Given the description of an element on the screen output the (x, y) to click on. 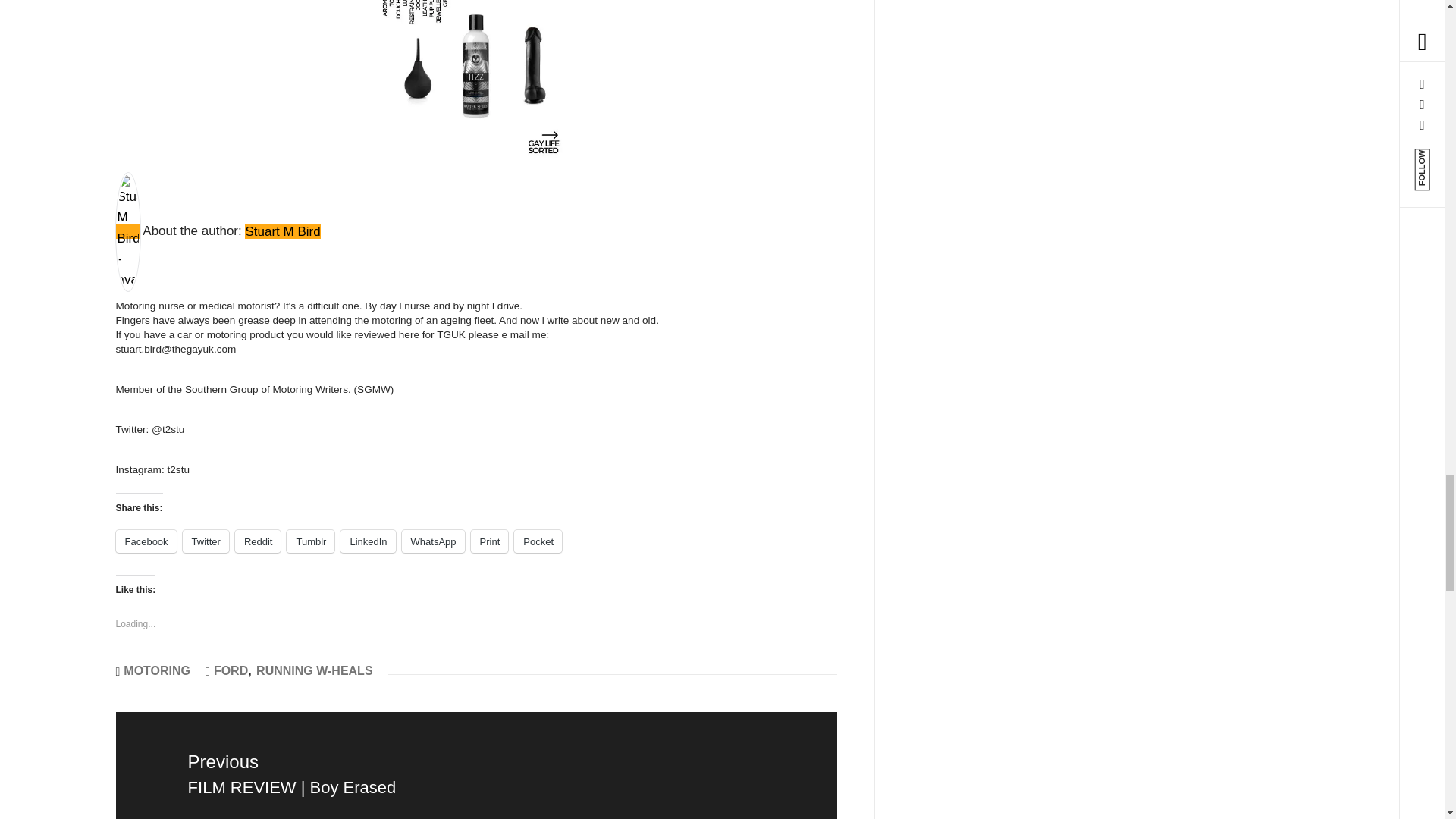
Click to print (489, 540)
Click to share on WhatsApp (432, 540)
Click to share on Twitter (205, 540)
Click to share on Reddit (257, 540)
Click to share on LinkedIn (367, 540)
Click to share on Pocket (537, 540)
Click to share on Facebook (145, 540)
Click to share on Tumblr (310, 540)
